Given the description of an element on the screen output the (x, y) to click on. 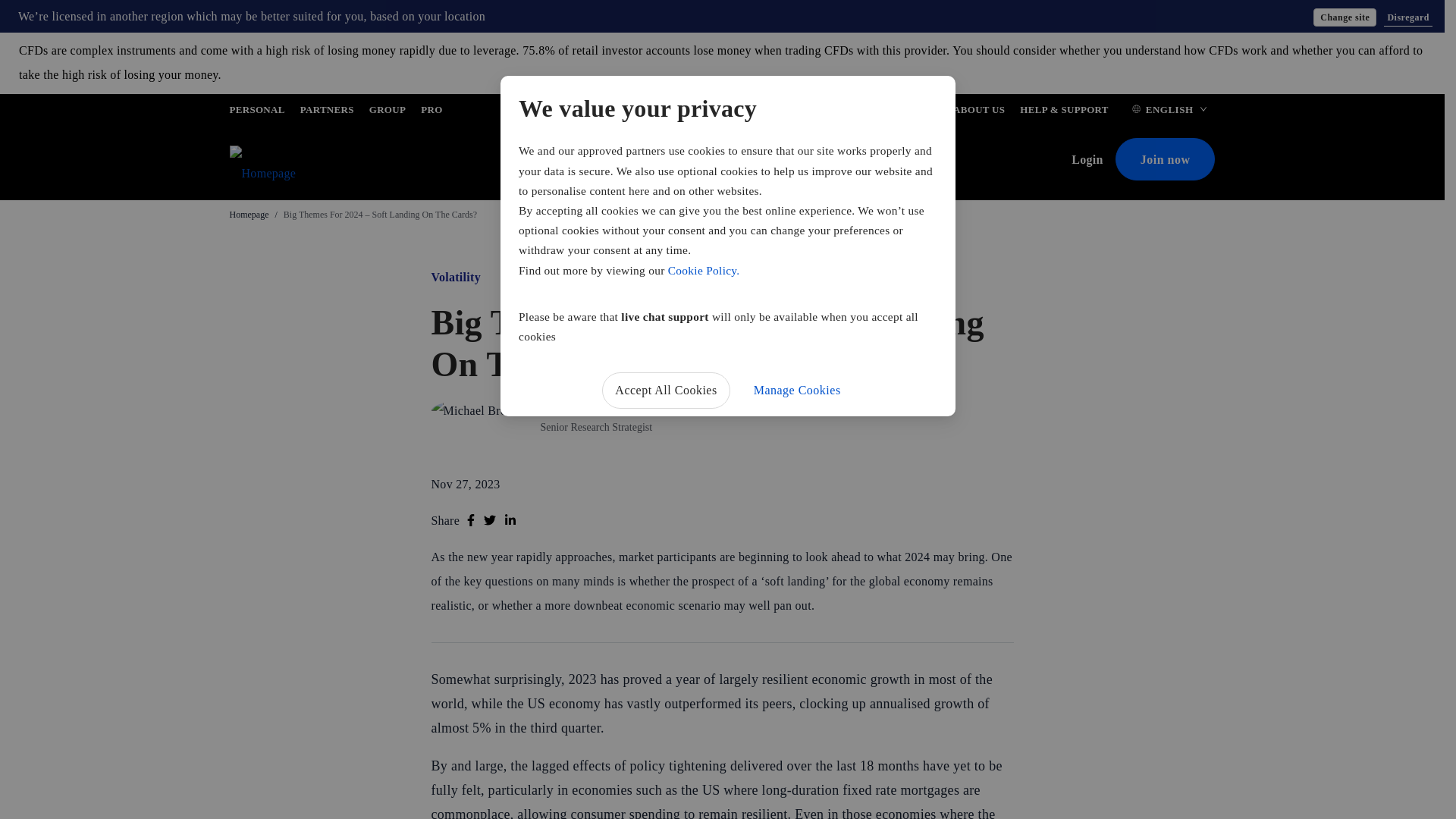
ENGLISH (1169, 112)
Analysis (753, 160)
PERSONAL (255, 112)
ABOUT US (978, 112)
Join now (1165, 159)
Markets (624, 160)
PERSONAL (255, 112)
Platforms (689, 160)
Change site (1344, 17)
Education (819, 160)
Volatility (455, 277)
ABOUT US (978, 112)
PRO (431, 112)
GROUP (387, 112)
PARTNERS (326, 112)
